Given the description of an element on the screen output the (x, y) to click on. 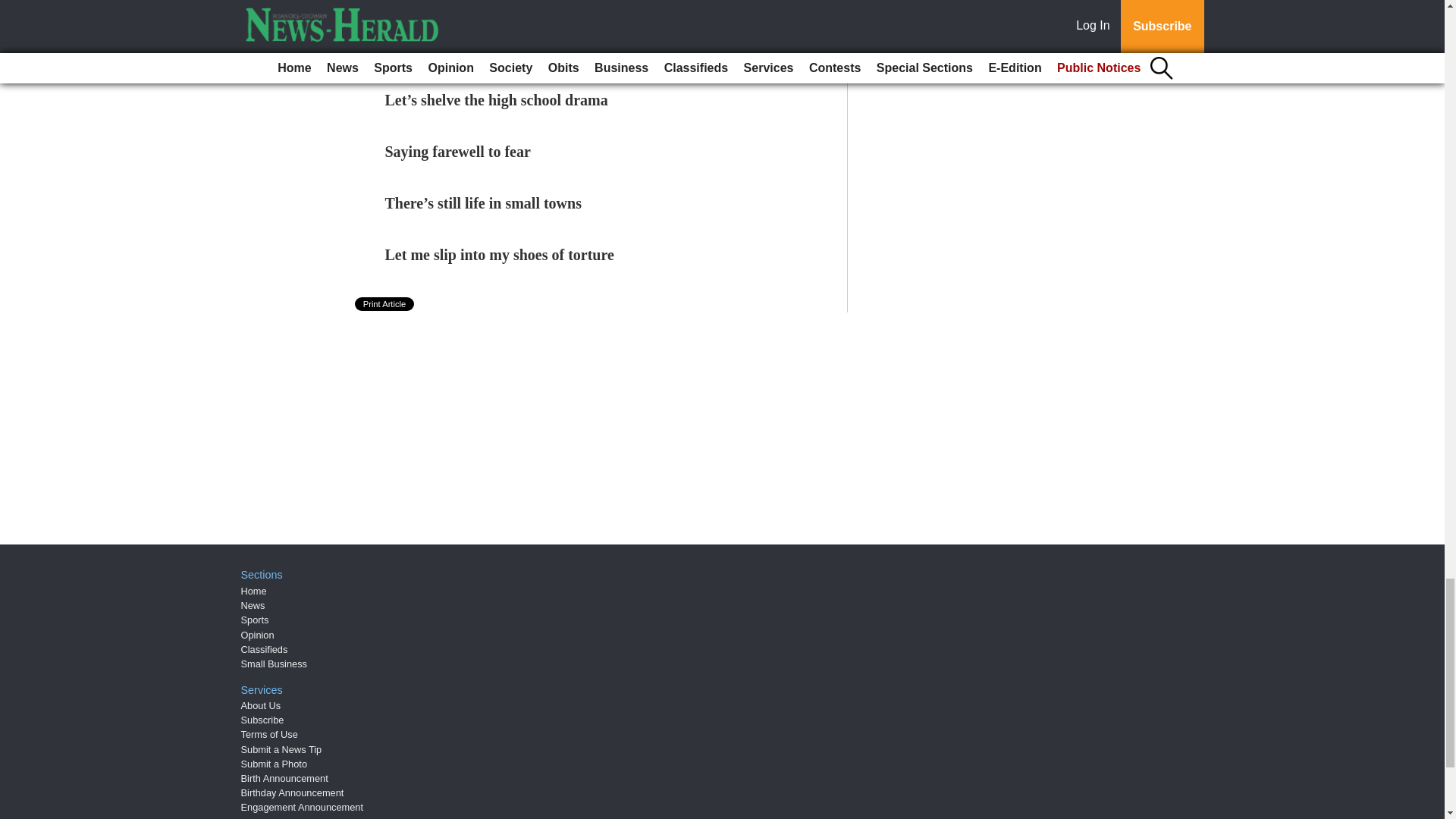
Let me slip into my shoes of torture (499, 254)
Print Article (384, 304)
Saying farewell to fear (458, 151)
Let me slip into my shoes of torture (499, 254)
Saying farewell to fear (458, 151)
